Given the description of an element on the screen output the (x, y) to click on. 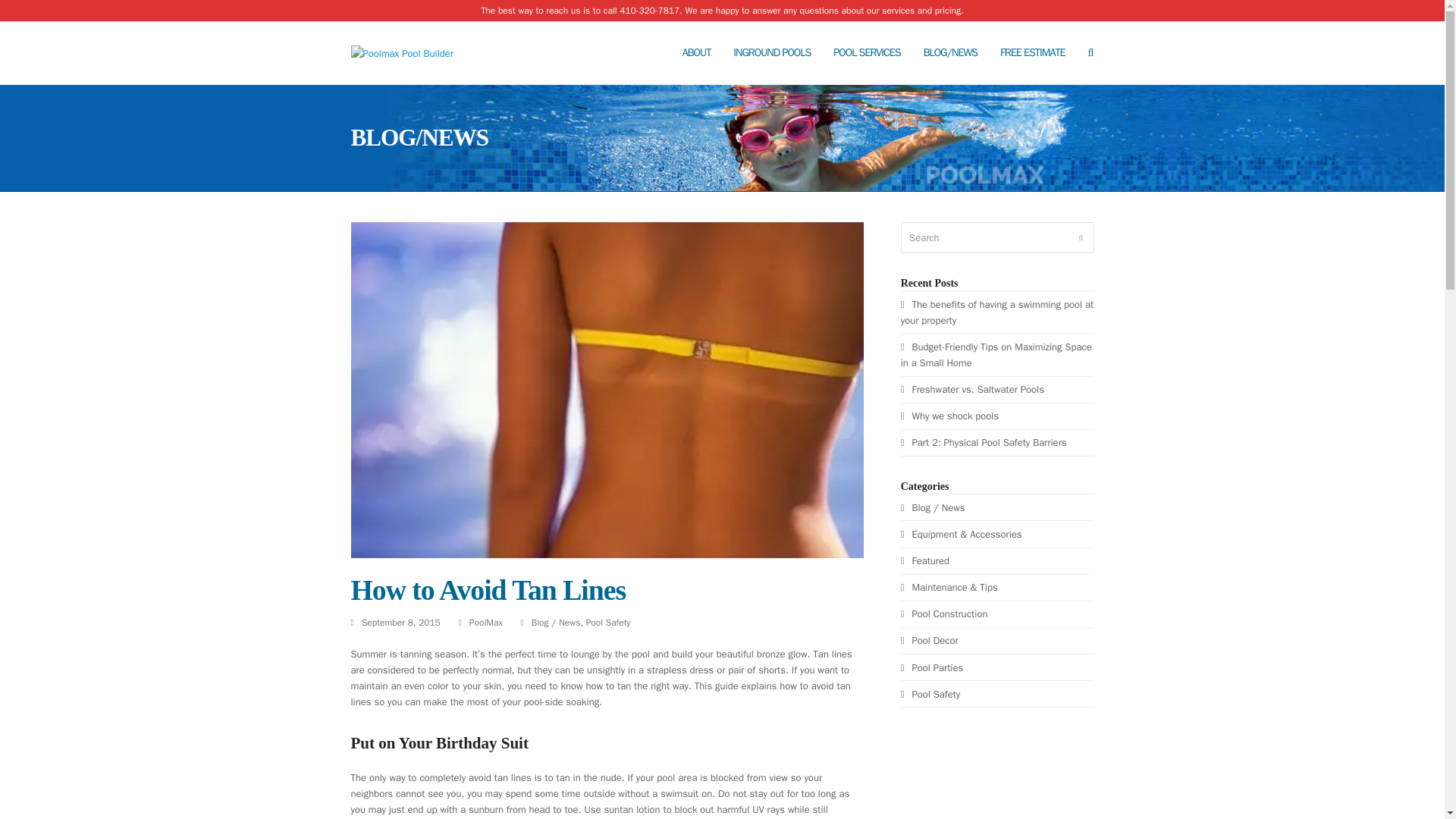
Why we shock pools (949, 415)
INGROUND POOLS (772, 53)
Part 2: Physical Pool Safety Barriers (984, 441)
Posts by PoolMax (485, 622)
The benefits of having a swimming pool at your property (997, 312)
FREE ESTIMATE (1032, 53)
Pool Safety (608, 622)
POOL SERVICES (866, 53)
ABOUT (696, 53)
PoolMax (485, 622)
Freshwater vs. Saltwater Pools (972, 389)
Budget-Friendly Tips on Maximizing Space in a Small Home (996, 354)
